Given the description of an element on the screen output the (x, y) to click on. 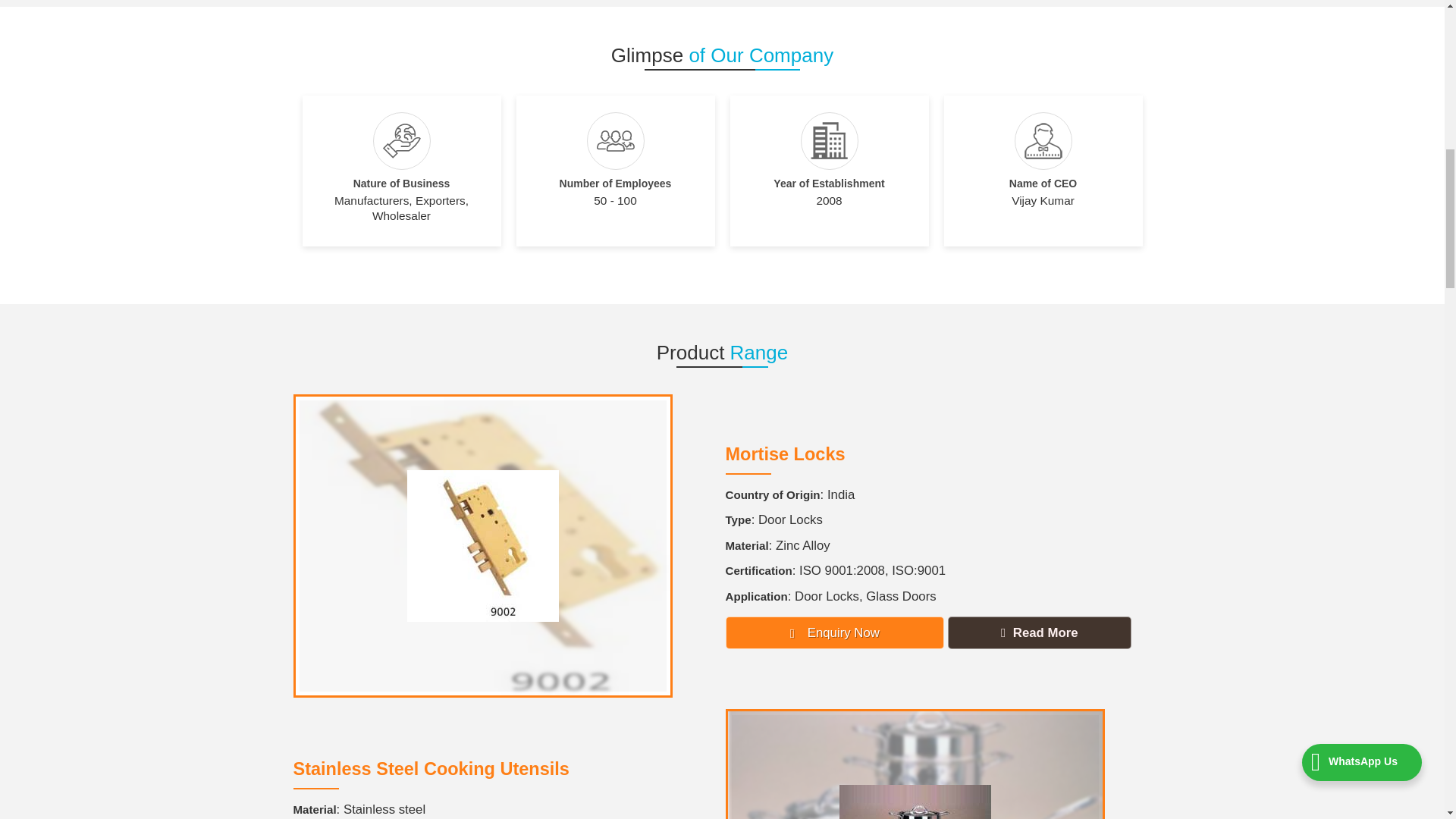
Mortise Locks (784, 454)
Stainless Steel Cooking Utensils (430, 768)
Enquiry Now (834, 632)
Read More (1039, 632)
